Given the description of an element on the screen output the (x, y) to click on. 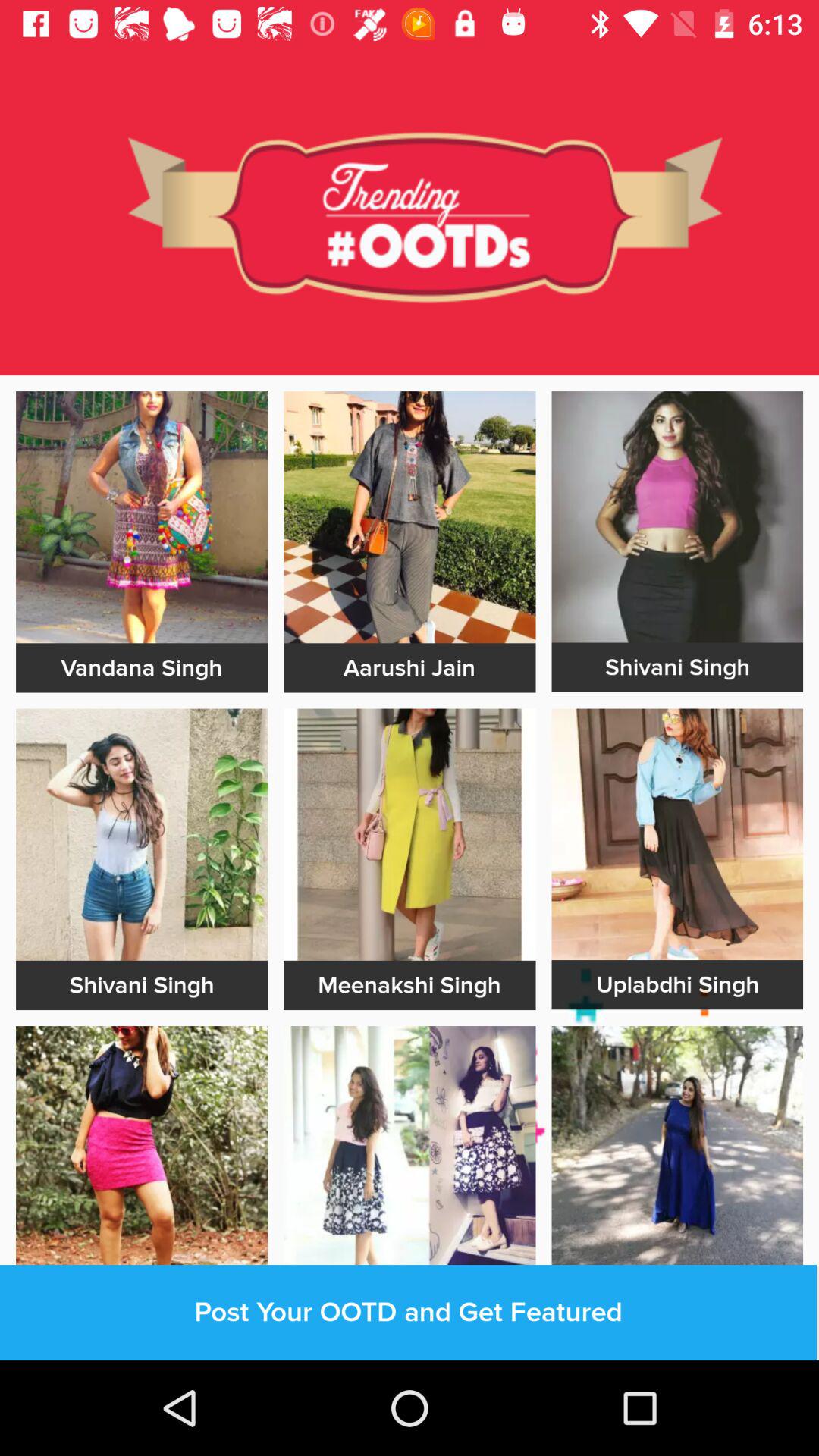
picture (141, 834)
